Given the description of an element on the screen output the (x, y) to click on. 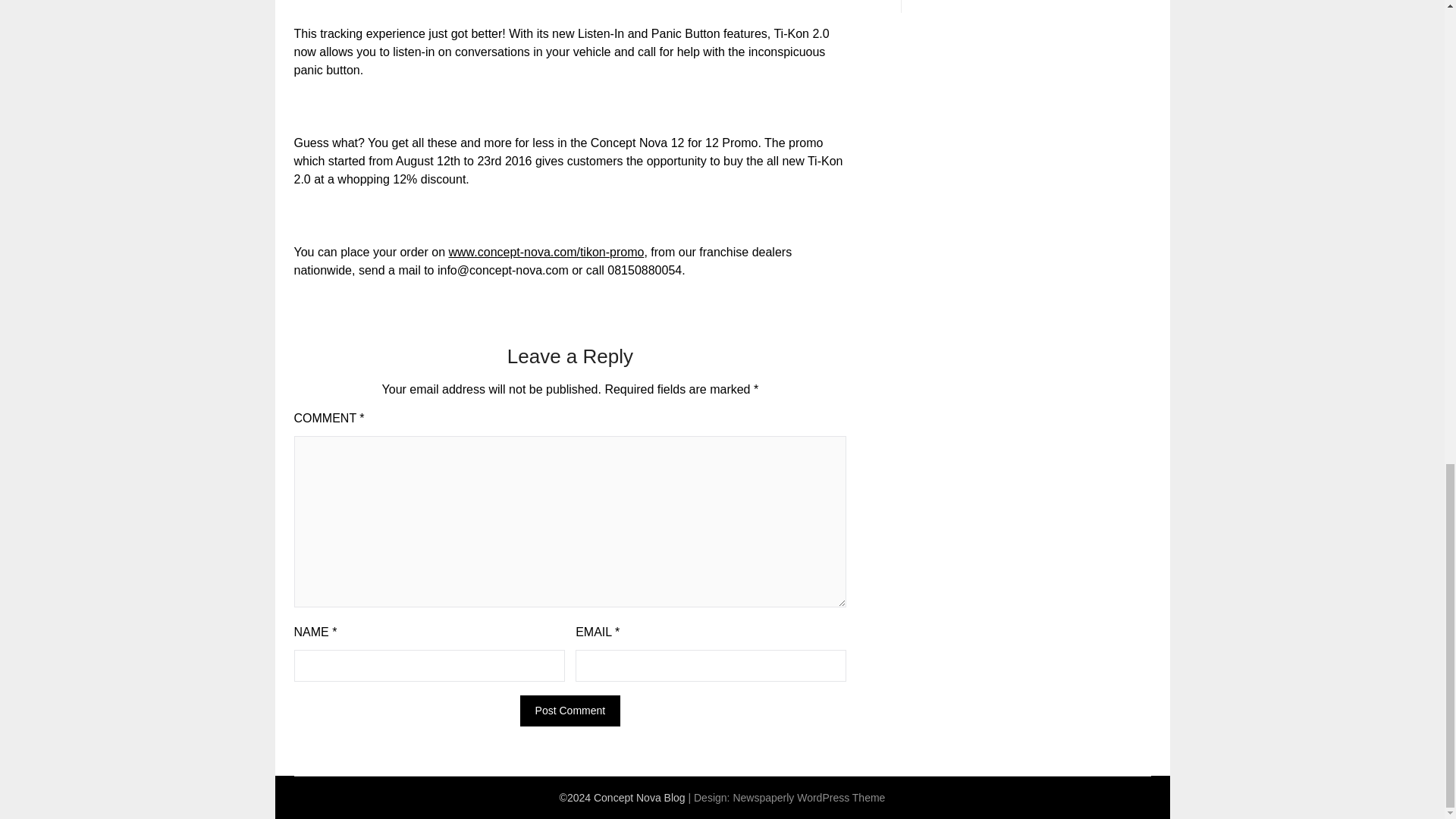
Newspaperly WordPress Theme (808, 797)
Post Comment (570, 710)
Post Comment (570, 710)
